Given the description of an element on the screen output the (x, y) to click on. 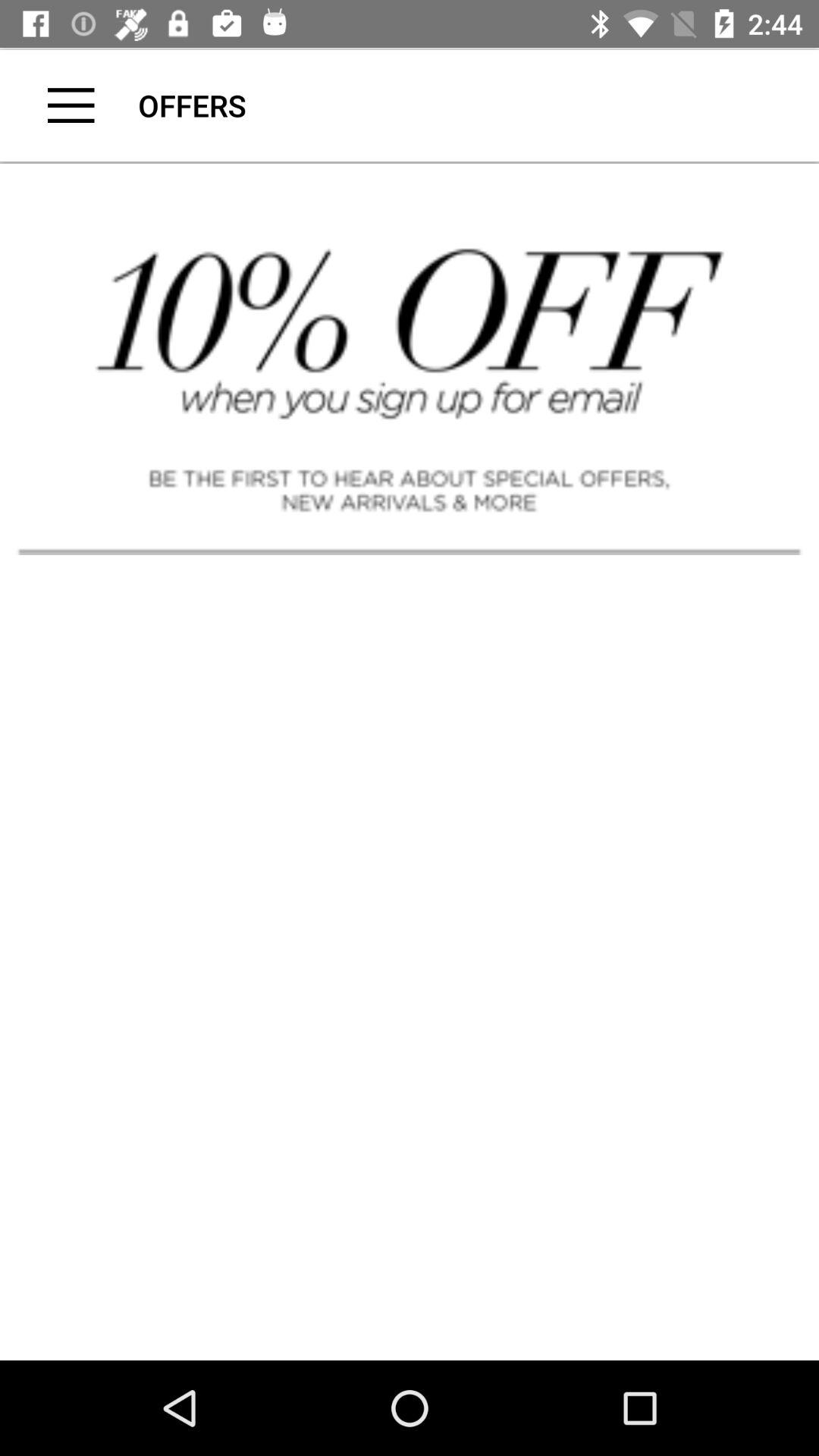
ten percent discount (409, 357)
